Given the description of an element on the screen output the (x, y) to click on. 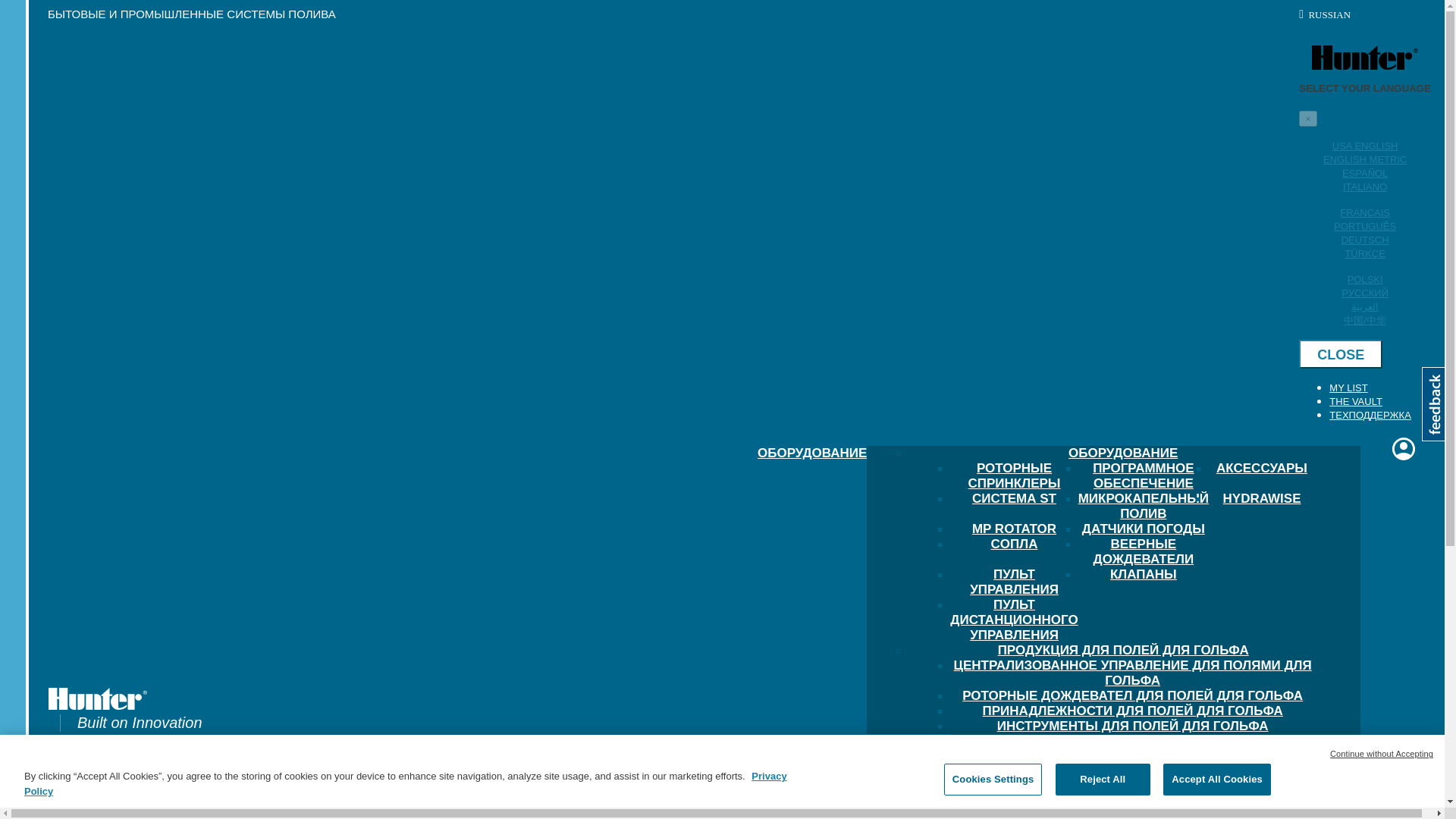
ENGLISH METRIC (1365, 159)
THE VAULT (1355, 401)
HYDRAWISE (1262, 507)
USA ENGLISH (1364, 145)
MY LIST (1348, 387)
Support (1369, 414)
CLOSE (1339, 353)
ITALIANO (1364, 186)
MP ROTATOR (1014, 538)
POLSKI (1365, 279)
DEUTSCH (1364, 239)
